Given the description of an element on the screen output the (x, y) to click on. 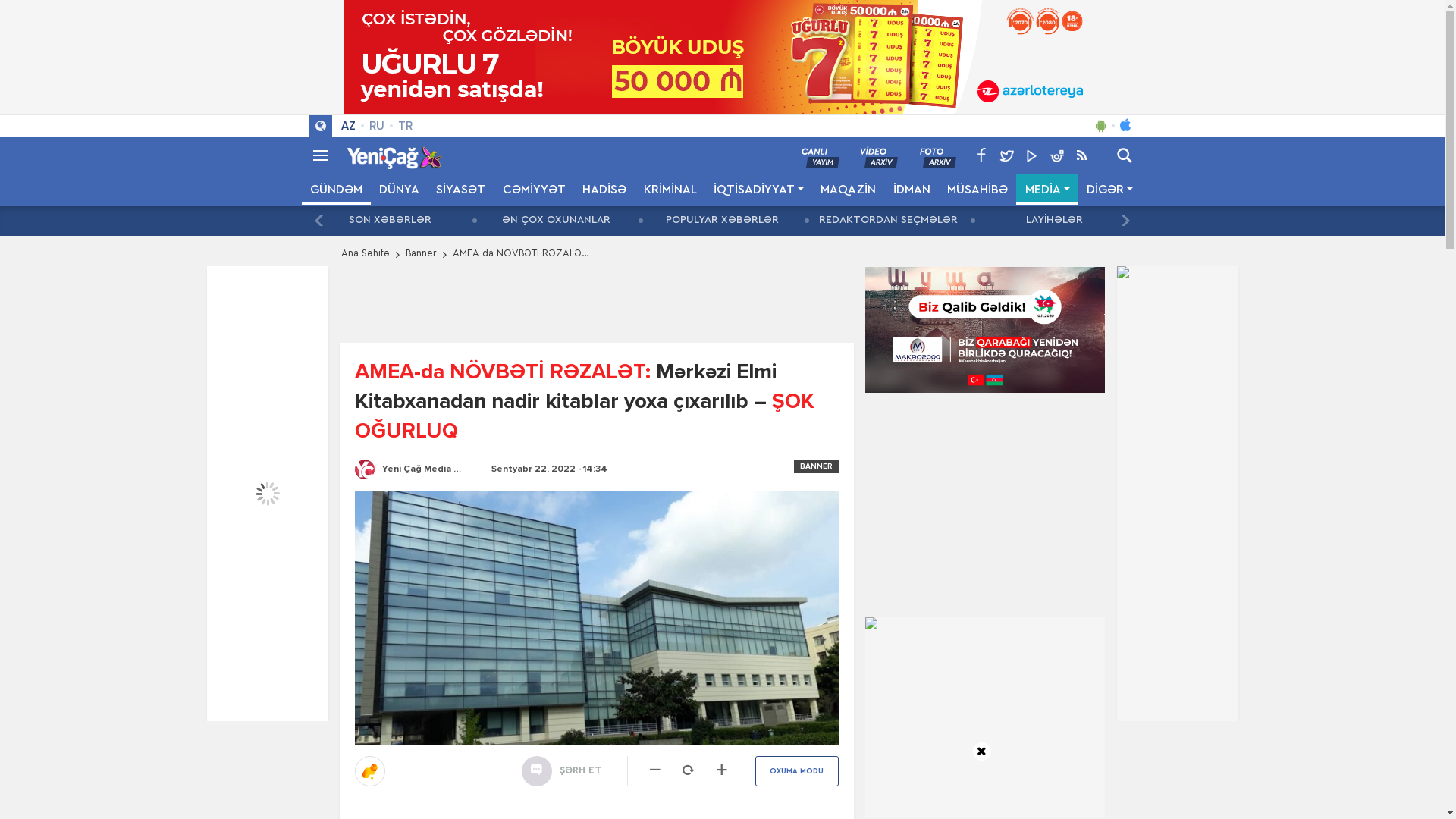
MAQAZIN Element type: text (848, 189)
Twitter Element type: text (1006, 154)
BANNER Element type: text (815, 466)
MEDIA Element type: text (1046, 189)
OXUMA MODU Element type: text (796, 771)
KRIMINAL Element type: text (669, 189)
RU Element type: text (376, 126)
Banner Element type: text (420, 253)
Youtube Element type: text (1030, 154)
RSS Element type: text (1080, 154)
Facebook Element type: text (980, 154)
AZ Element type: text (347, 126)
TR Element type: text (404, 126)
